Given the description of an element on the screen output the (x, y) to click on. 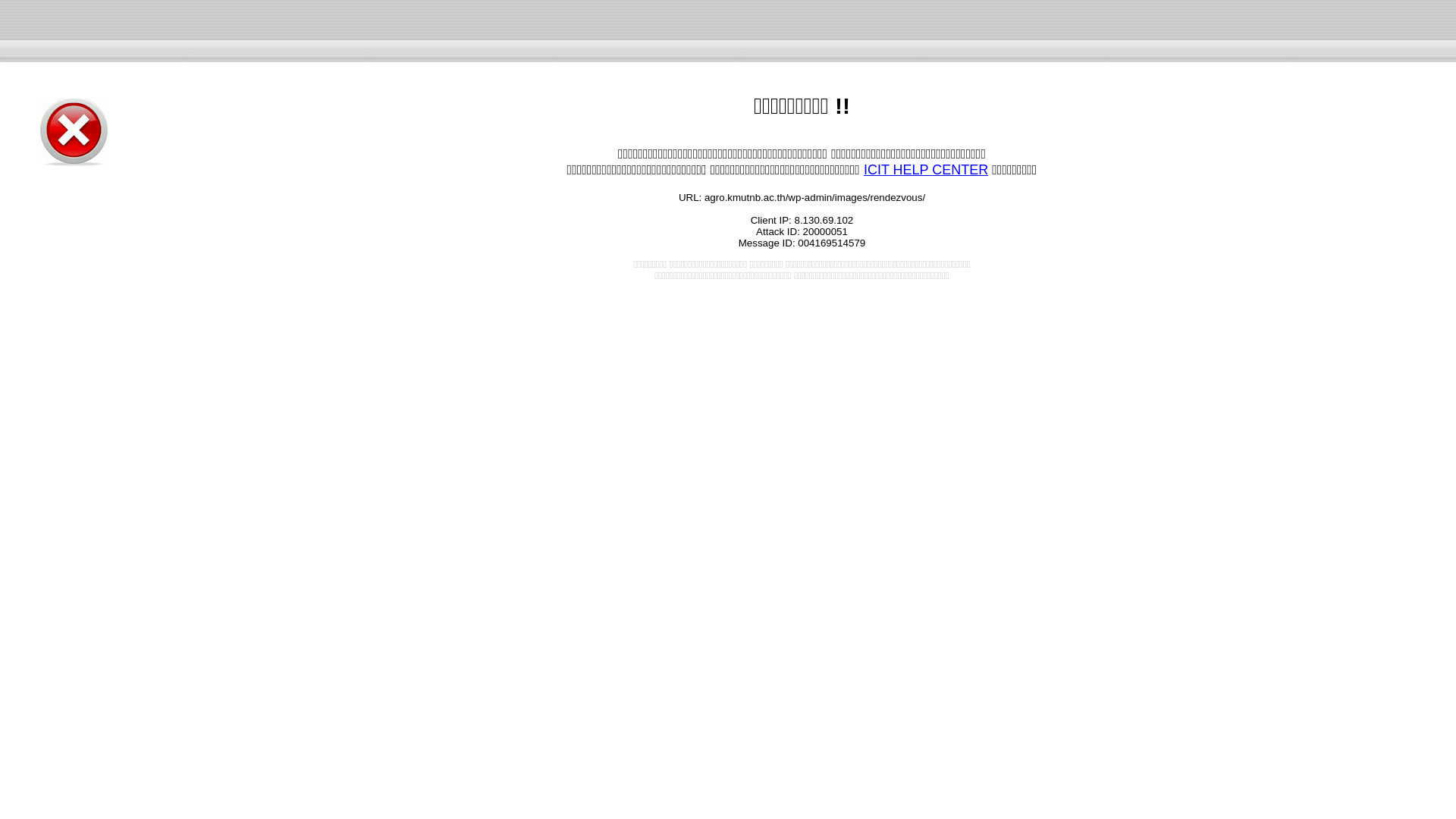
ICIT HELP CENTER (925, 169)
